Given the description of an element on the screen output the (x, y) to click on. 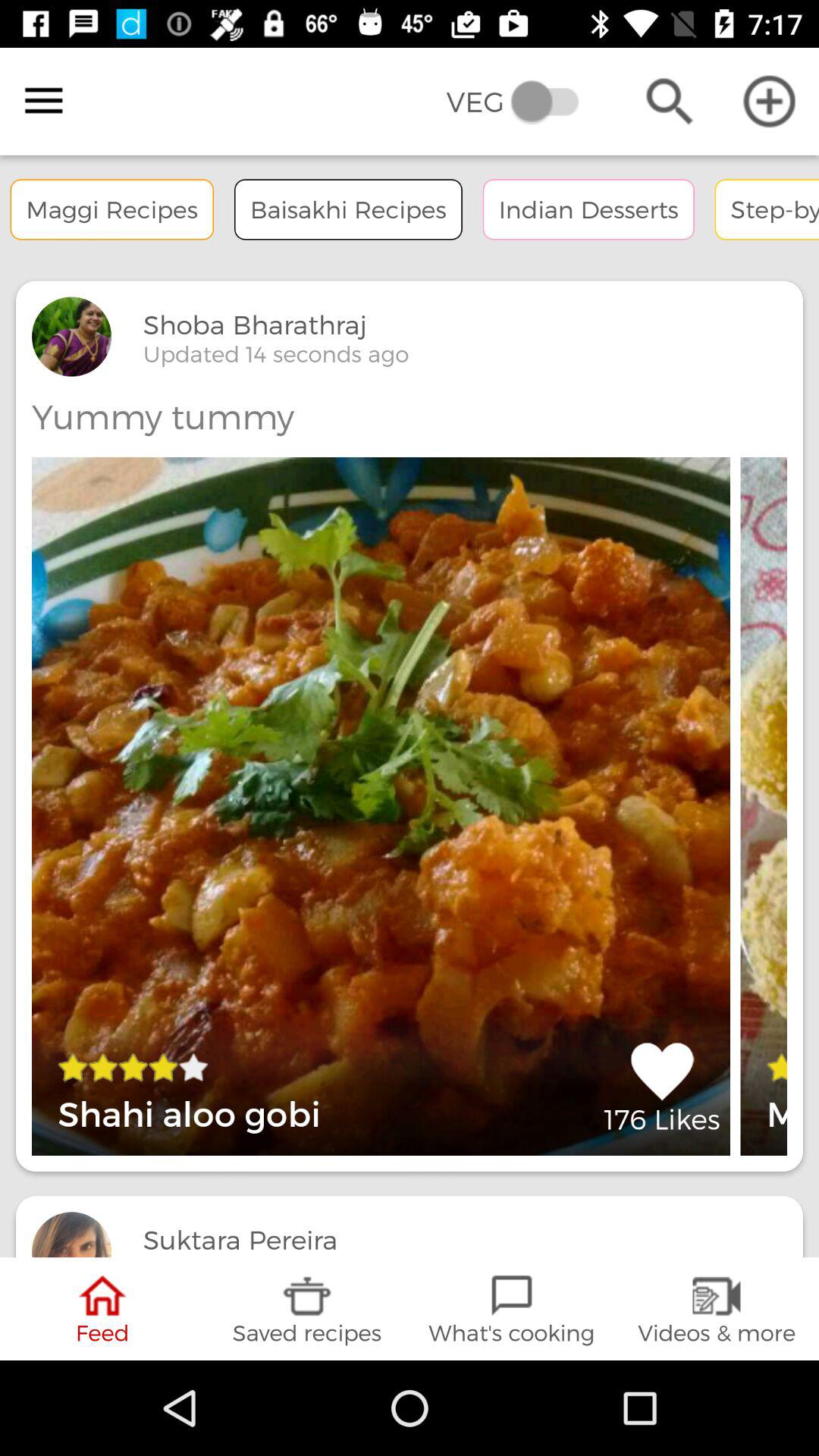
click the item below updated 15 seconds icon (306, 1308)
